Given the description of an element on the screen output the (x, y) to click on. 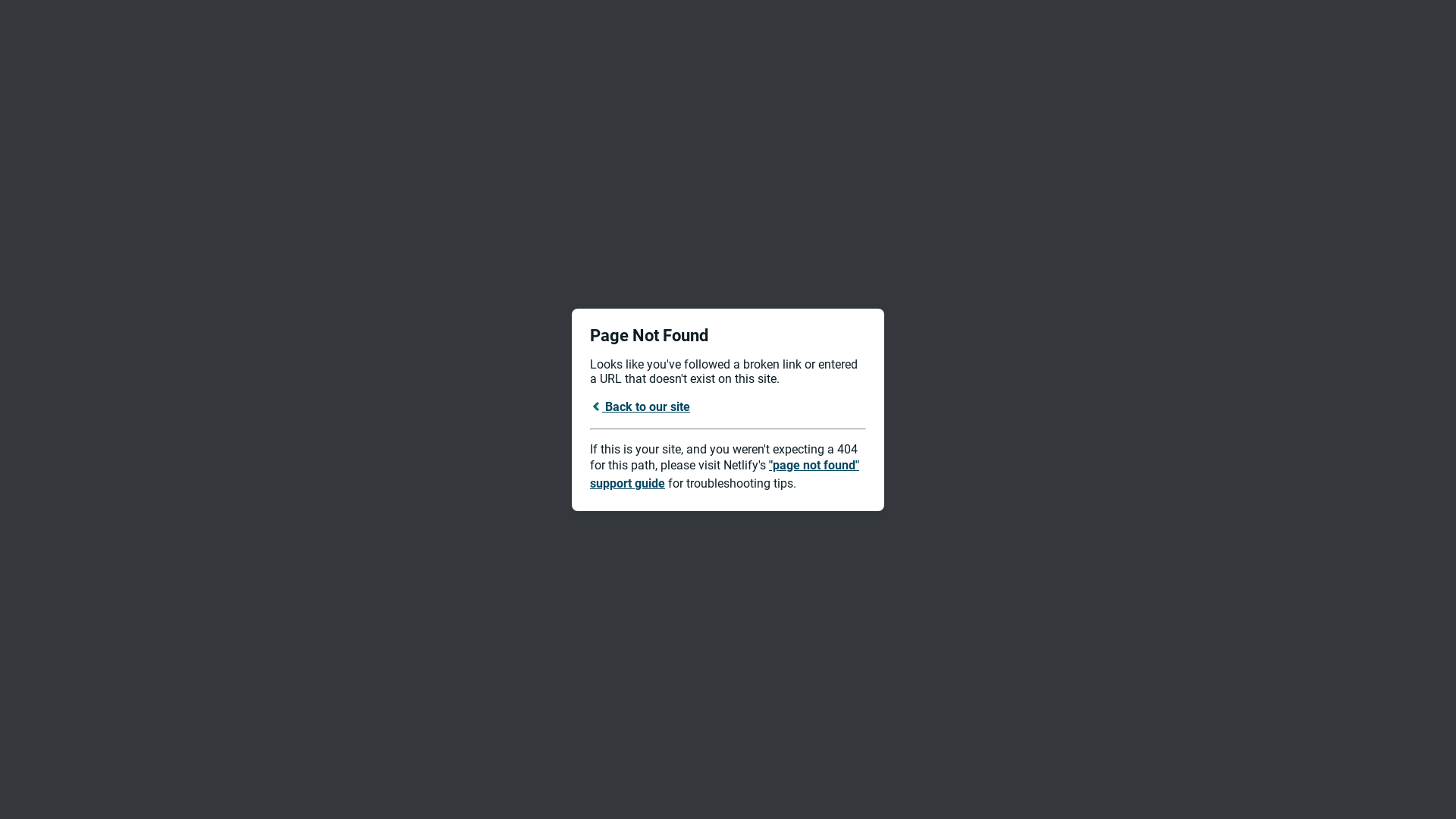
Back to our site Element type: text (639, 405)
"page not found" support guide Element type: text (724, 474)
